Given the description of an element on the screen output the (x, y) to click on. 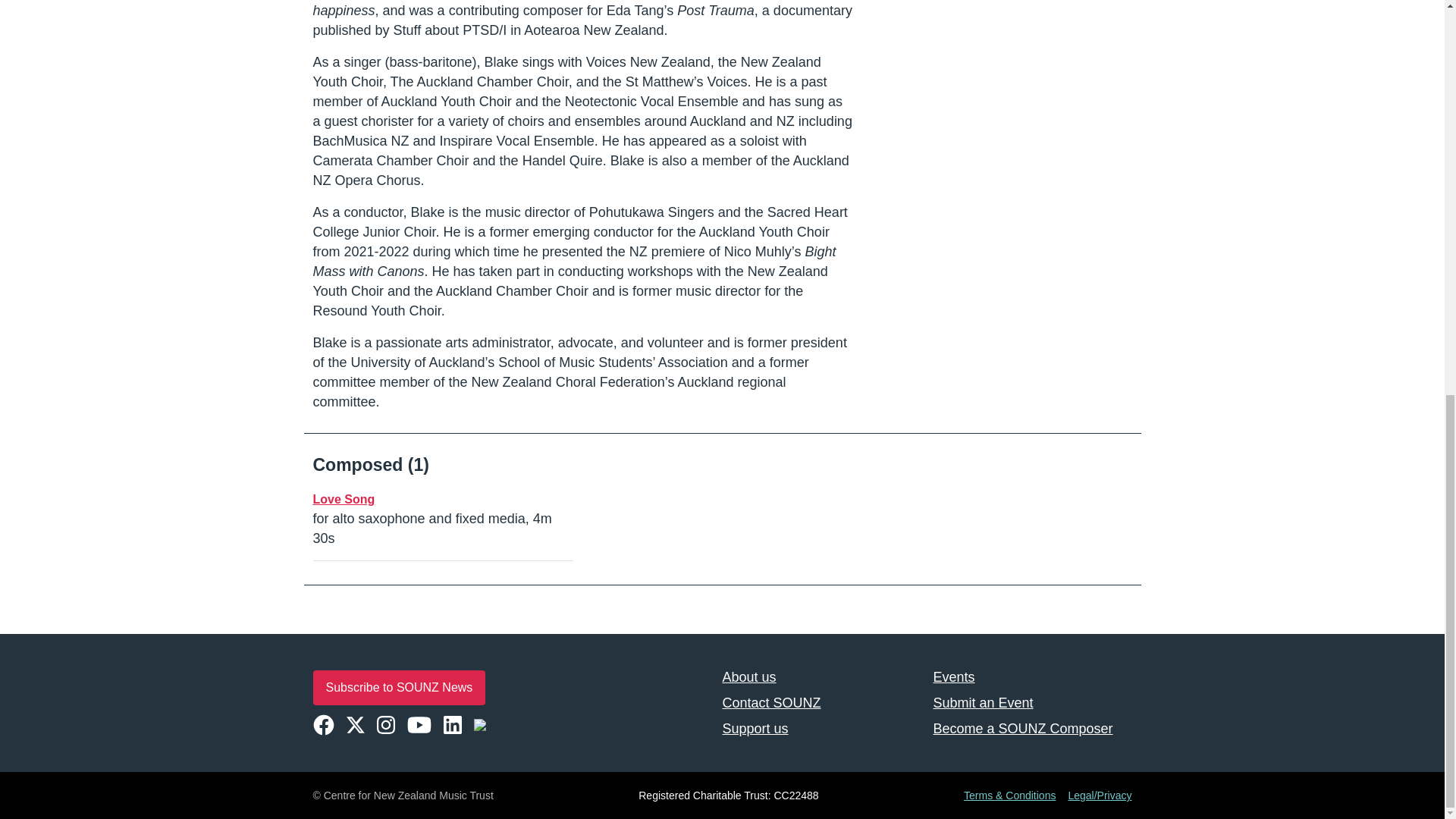
Love Song (343, 499)
Submit an Event (1032, 703)
Become a SOUNZ Composer (1032, 728)
Events (1032, 676)
Subscribe to SOUNZ News (398, 687)
About us (821, 676)
Contact SOUNZ (821, 703)
Support us (821, 728)
